Given the description of an element on the screen output the (x, y) to click on. 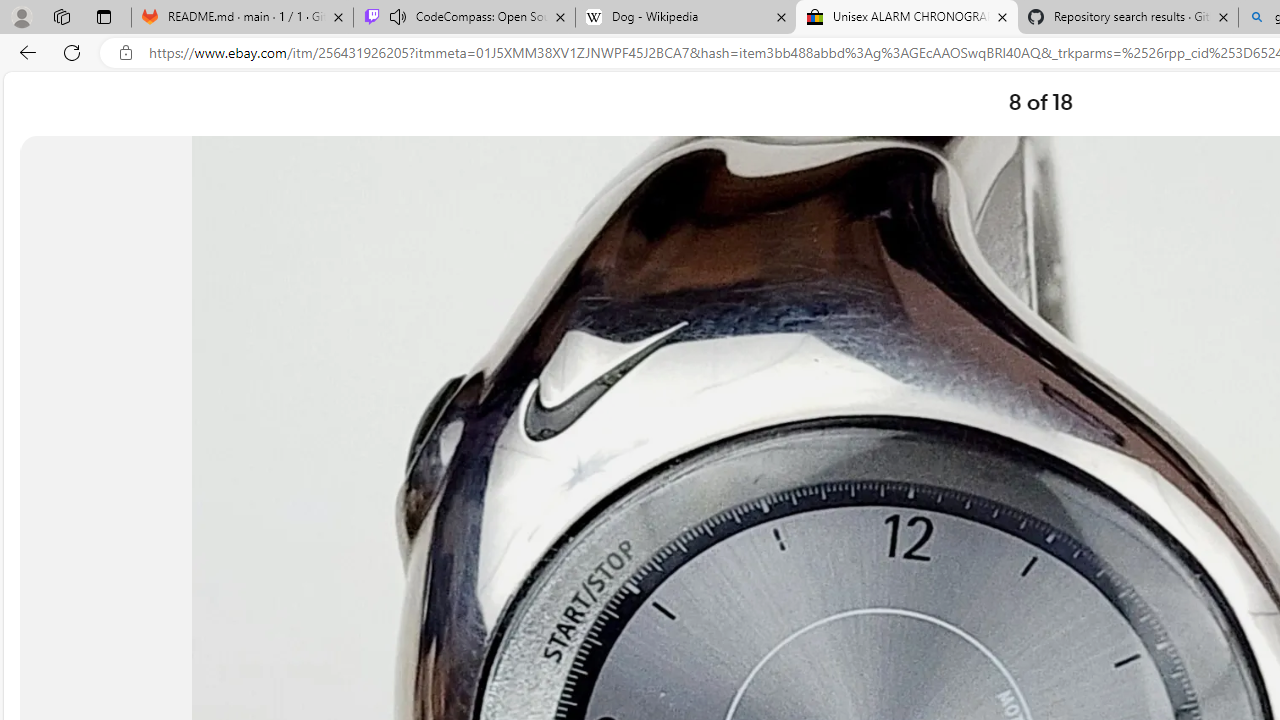
Dog - Wikipedia (686, 17)
Mute tab (397, 16)
